Given the description of an element on the screen output the (x, y) to click on. 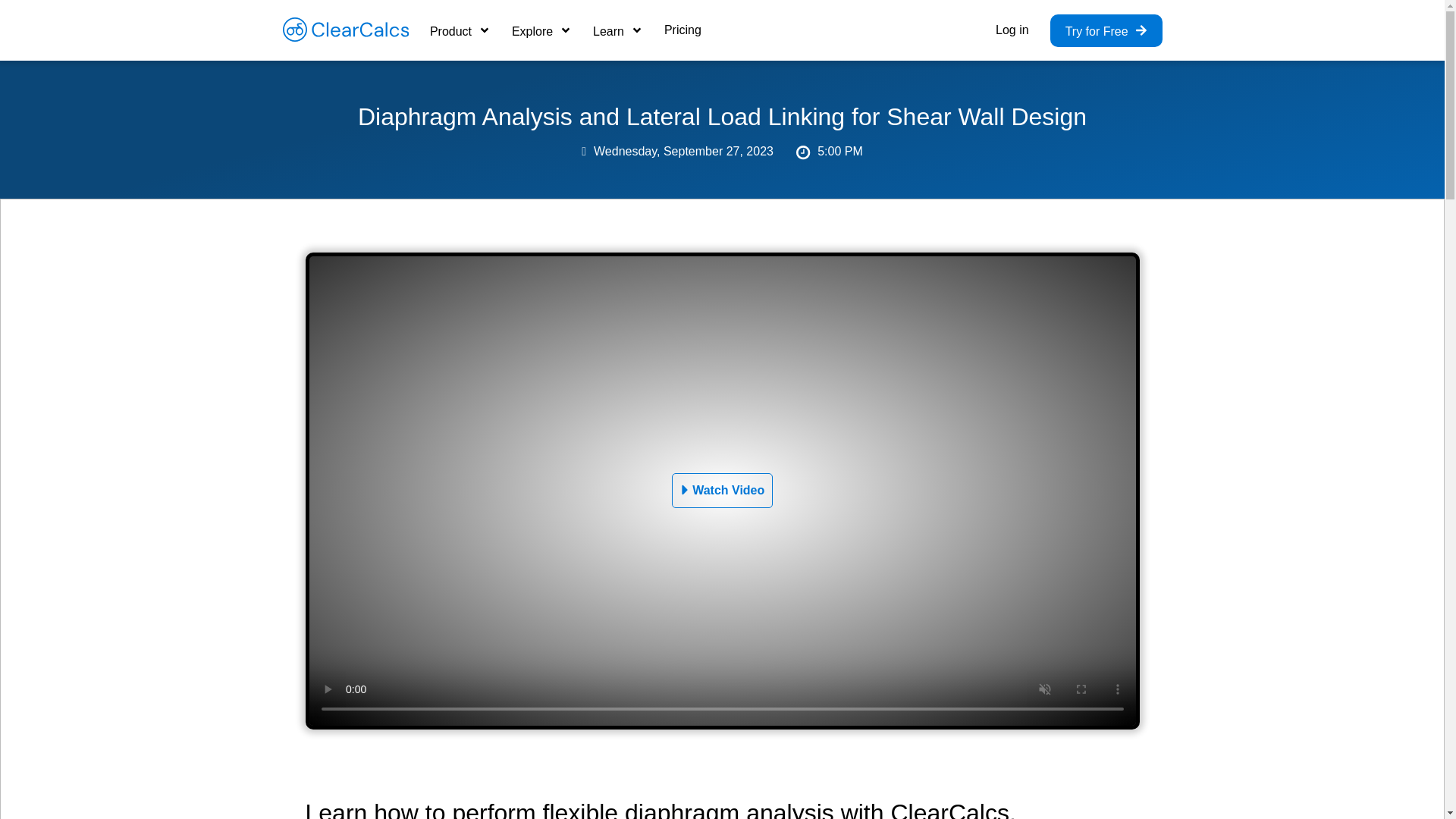
Try for Free   (1105, 29)
Explore   (542, 30)
Product   (459, 30)
Pricing (682, 30)
Log in (1012, 30)
